Given the description of an element on the screen output the (x, y) to click on. 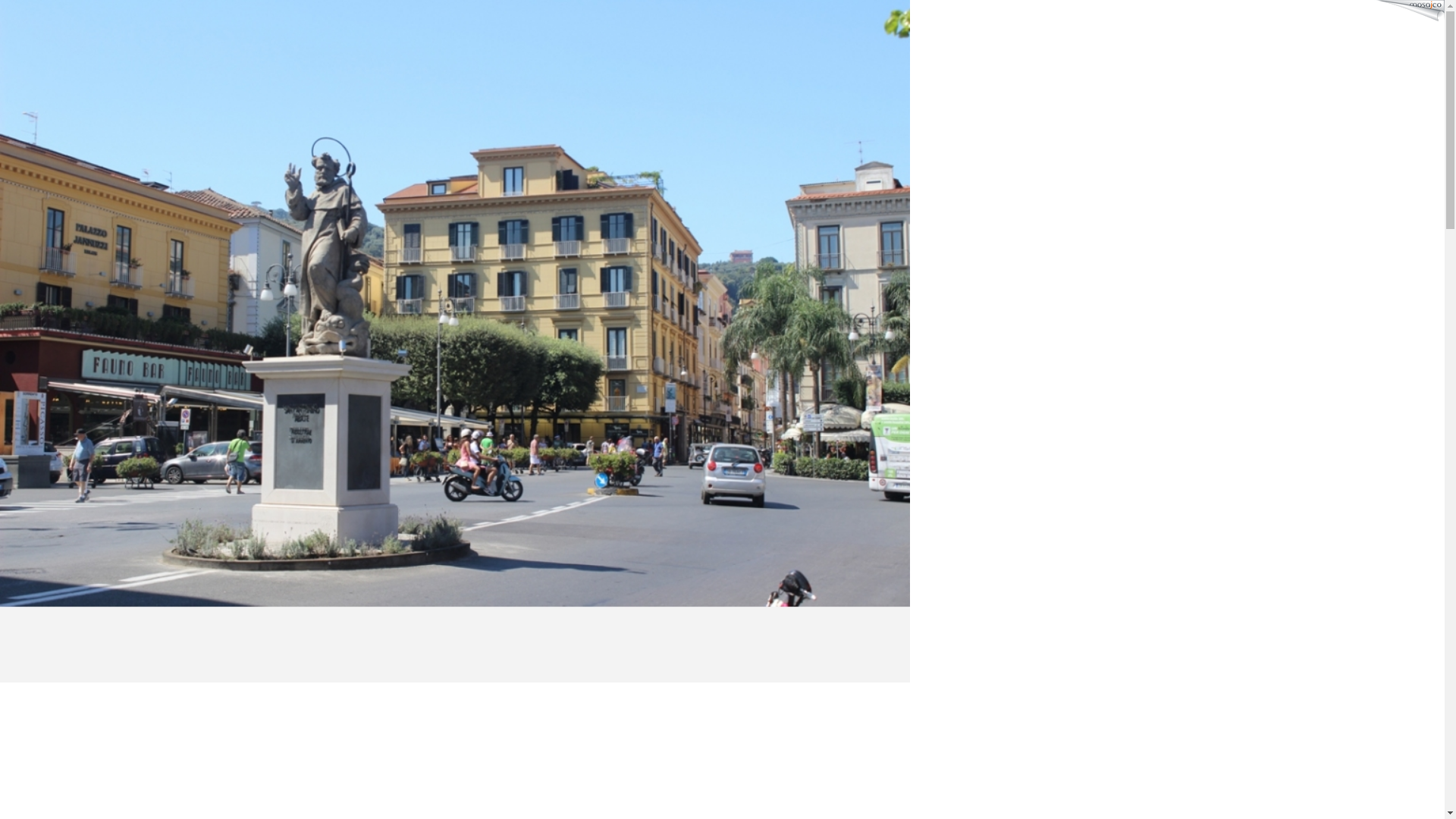
Prenota Ora Element type: text (95, 455)
  Element type: text (37, 71)
English Element type: hover (37, 71)
OK Element type: text (565, 31)
  Element type: text (37, 57)
click here Element type: text (559, 18)
Photo Gallery Element type: text (100, 427)
Offers Element type: text (82, 373)
Rooms Element type: text (83, 291)
Contacts Element type: text (87, 400)
Location Element type: text (88, 345)
Facilities Element type: text (88, 318)
Homepage Element type: text (92, 264)
3SuiteViewSorrento - Homepage Element type: hover (353, 238)
Italiano Element type: hover (37, 57)
